Given the description of an element on the screen output the (x, y) to click on. 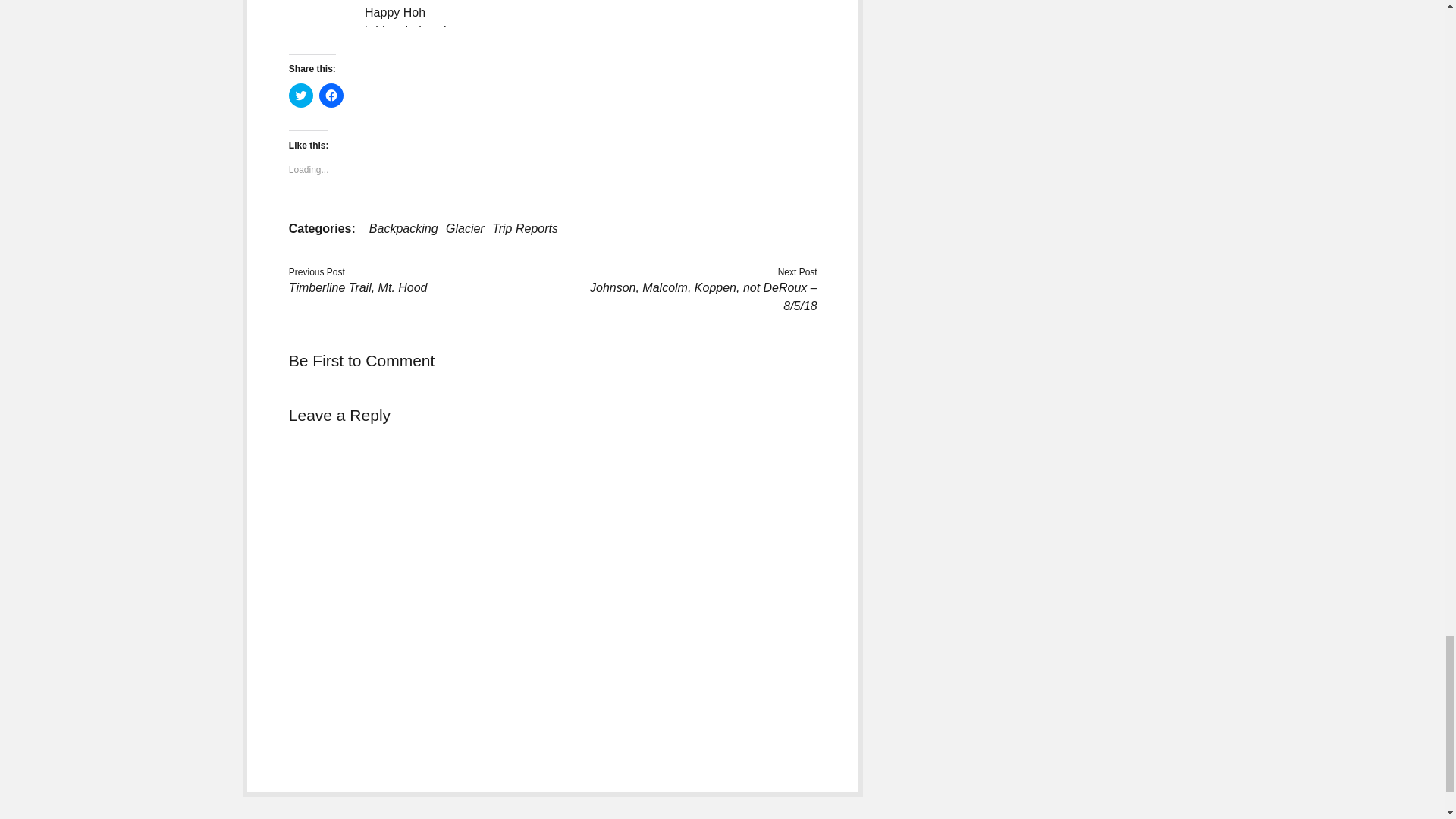
Backpacking (403, 228)
Timberline Trail, Mt. Hood (358, 287)
Glacier (464, 228)
Trip Reports (524, 228)
